Given the description of an element on the screen output the (x, y) to click on. 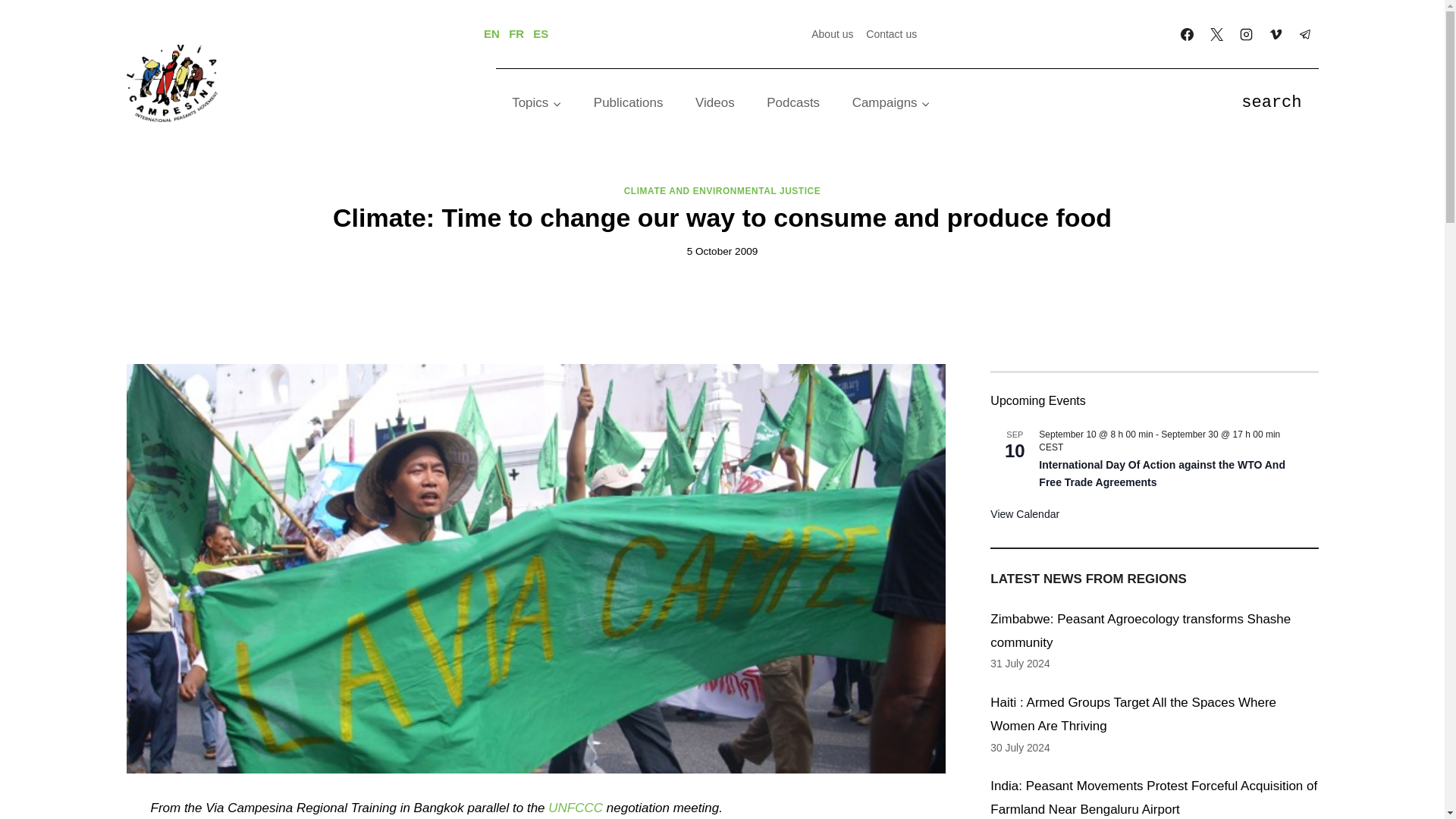
CLIMATE AND ENVIRONMENTAL JUSTICE (722, 190)
EN (491, 33)
Campaigns (890, 103)
Topics (537, 103)
Videos (715, 103)
ES (540, 33)
Podcasts (793, 103)
About us (832, 33)
Publications (628, 103)
View more events. (1024, 513)
search (1270, 102)
FR (516, 33)
Contact us (891, 33)
